Given the description of an element on the screen output the (x, y) to click on. 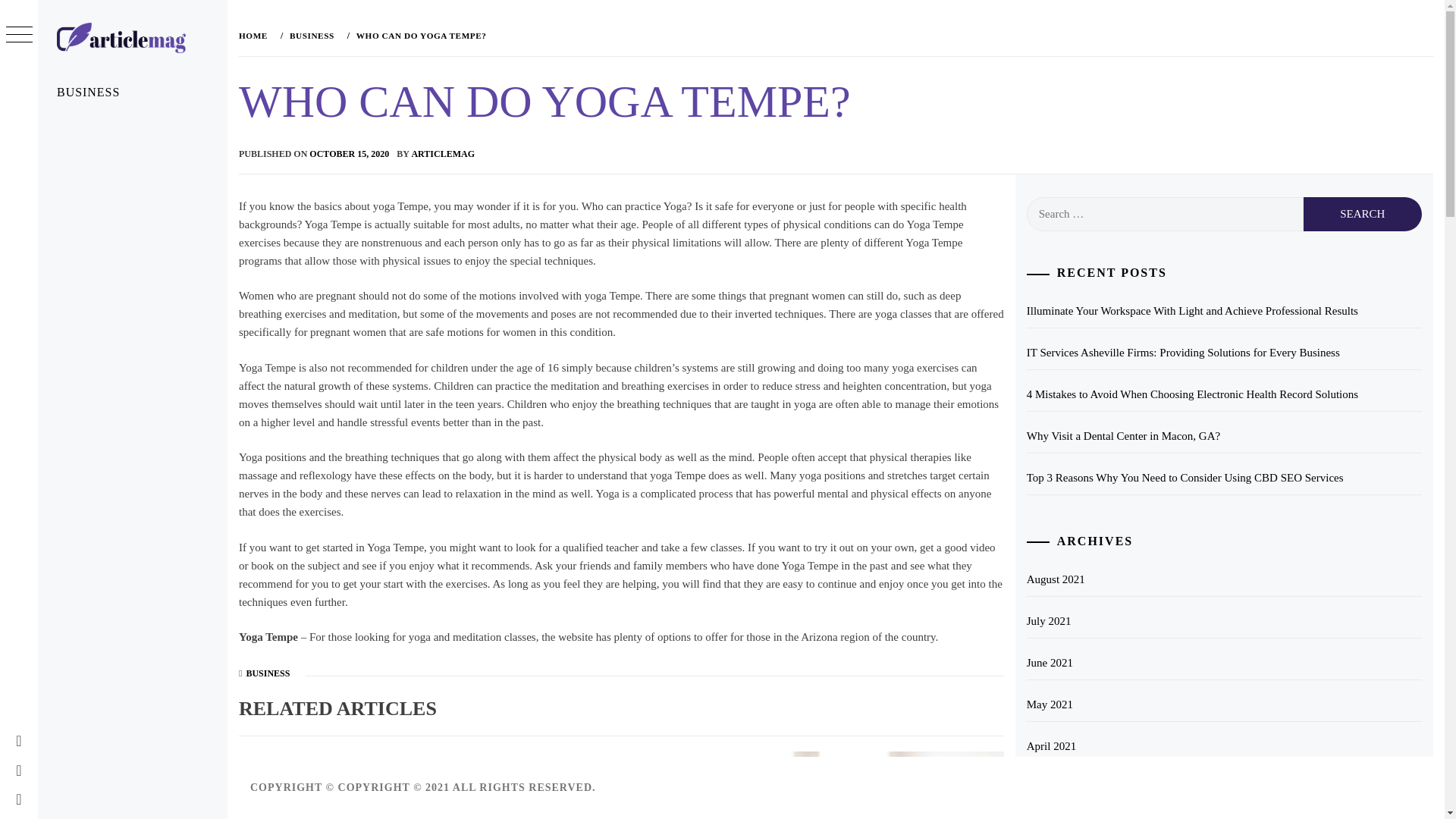
BUSINESS (132, 92)
ARTICLEMAG (147, 66)
Search (646, 37)
The Importance of Lab Freezer in Plymouth, MN (600, 773)
May 2021 (1224, 704)
August 2021 (1224, 579)
February 2021 (1224, 816)
April 2021 (1224, 746)
BUSINESS (267, 673)
Why Visit a Dental Center in Macon, GA? (1224, 436)
